Given the description of an element on the screen output the (x, y) to click on. 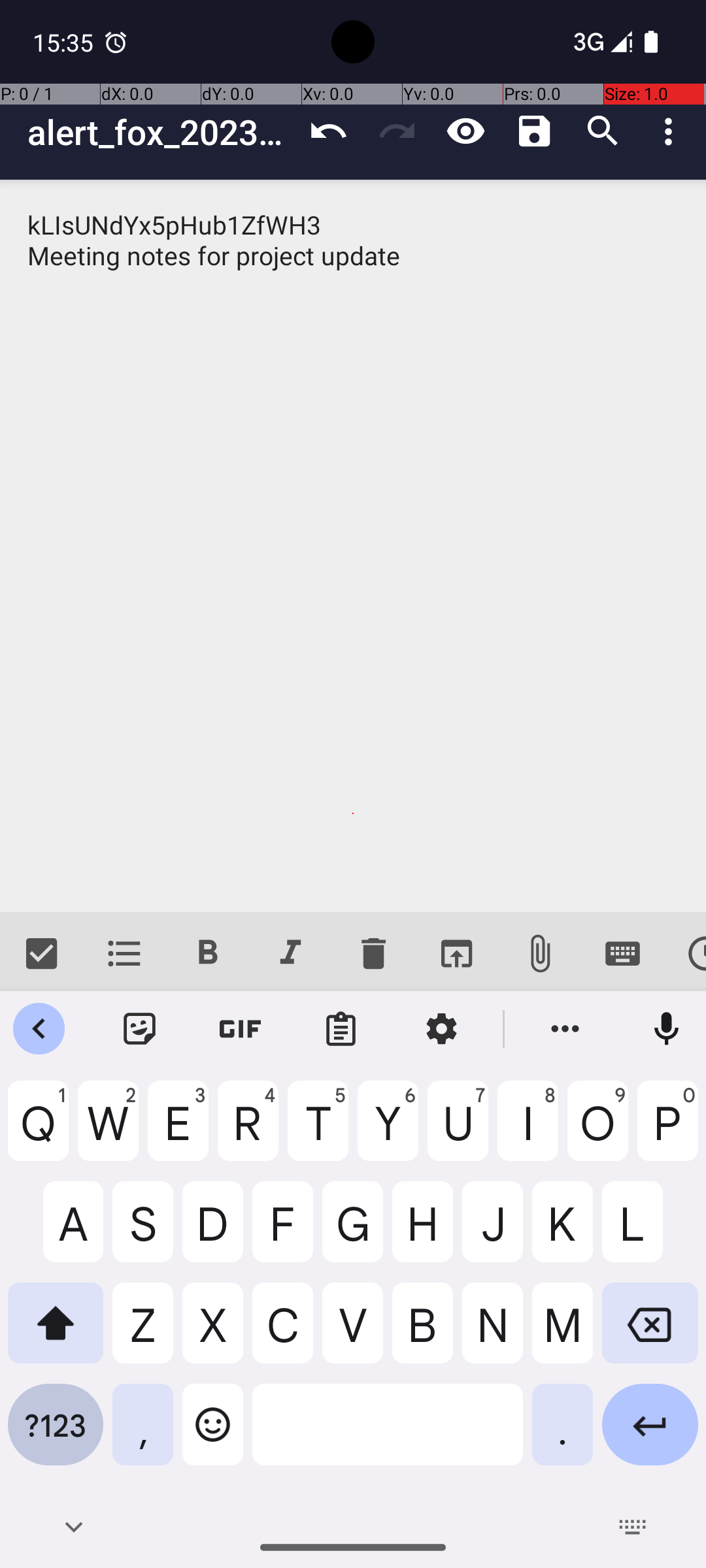
alert_fox_2023_01_10 Element type: android.widget.TextView (160, 131)
kLIsUNdYx5pHub1ZfWH3
Meeting notes for project update
 Element type: android.widget.EditText (353, 545)
